Given the description of an element on the screen output the (x, y) to click on. 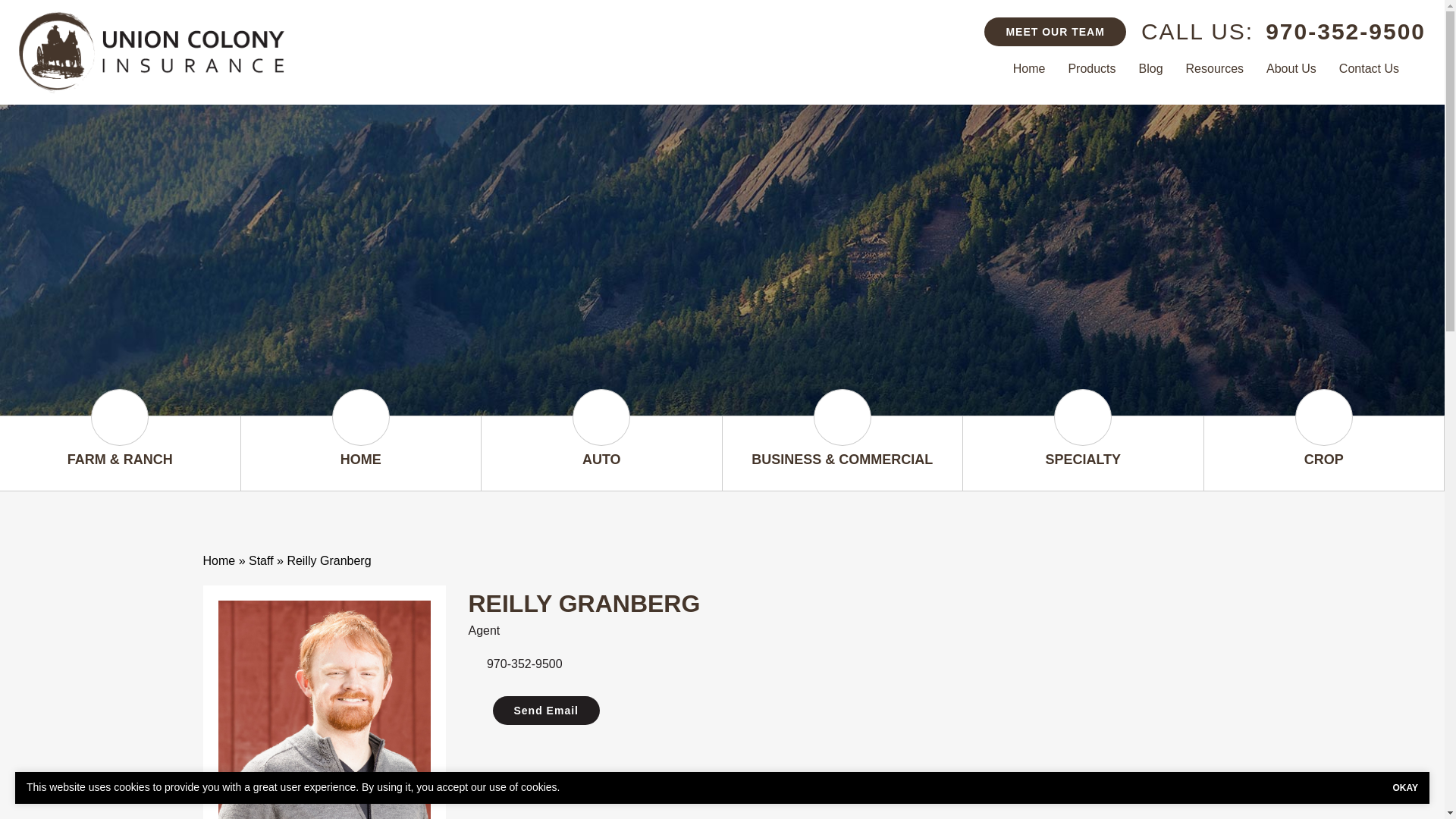
About Us (1291, 68)
Home (1029, 68)
Resources (1214, 68)
MEET OUR TEAM (1054, 31)
Products (1091, 68)
Blog (1150, 68)
970-352-9500 (1345, 31)
